Given the description of an element on the screen output the (x, y) to click on. 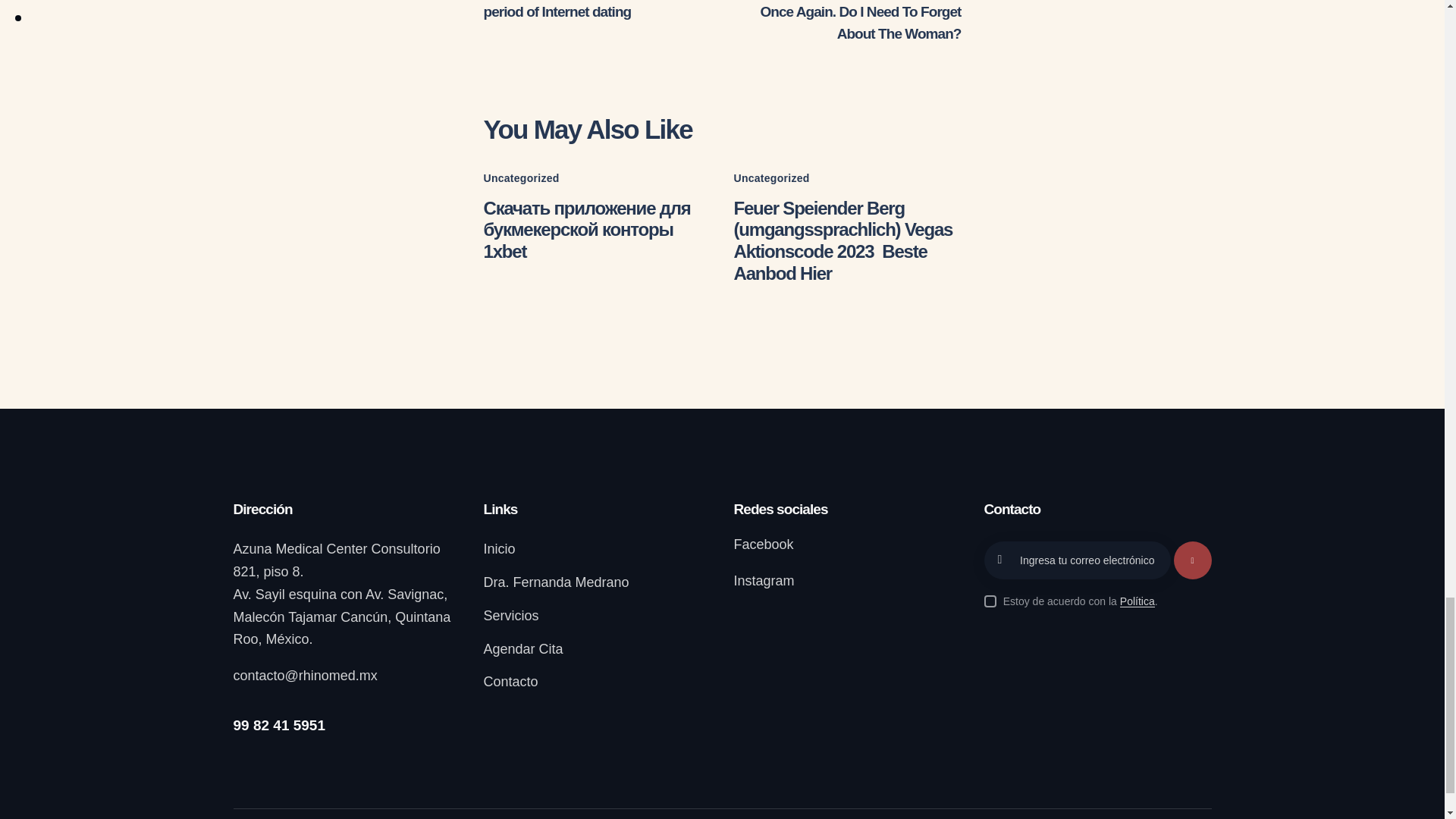
1 (1175, 546)
